Given the description of an element on the screen output the (x, y) to click on. 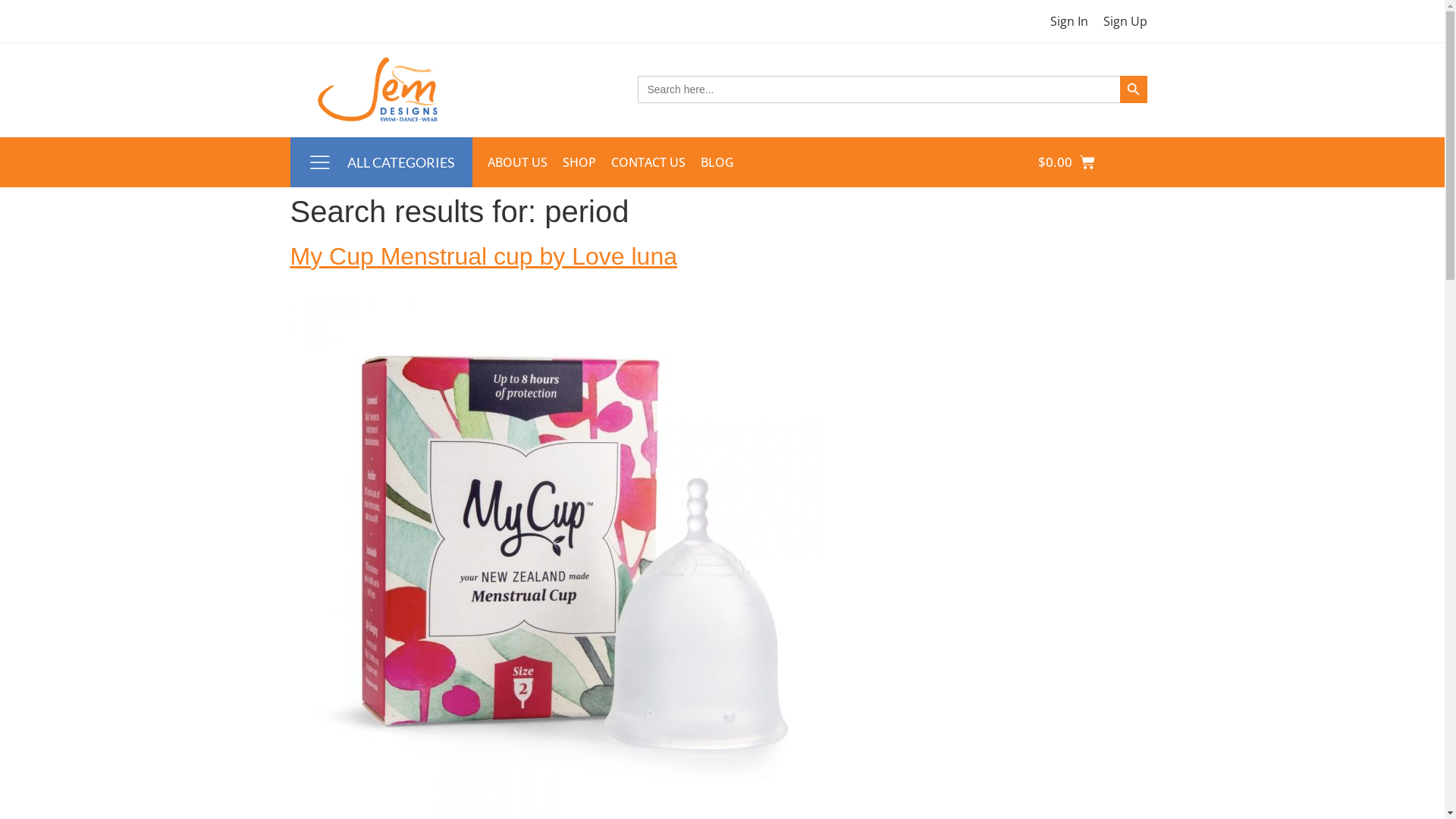
ABOUT US Element type: text (516, 161)
BLOG Element type: text (717, 161)
Sign In Element type: text (1068, 20)
CONTACT US Element type: text (648, 161)
Search Button Element type: text (1132, 89)
$0.00 Element type: text (1065, 161)
ALL CATEGORIES Element type: text (401, 161)
My Cup Menstrual cup by Love luna Element type: text (482, 255)
Sign Up Element type: text (1124, 20)
SHOP Element type: text (579, 161)
